Given the description of an element on the screen output the (x, y) to click on. 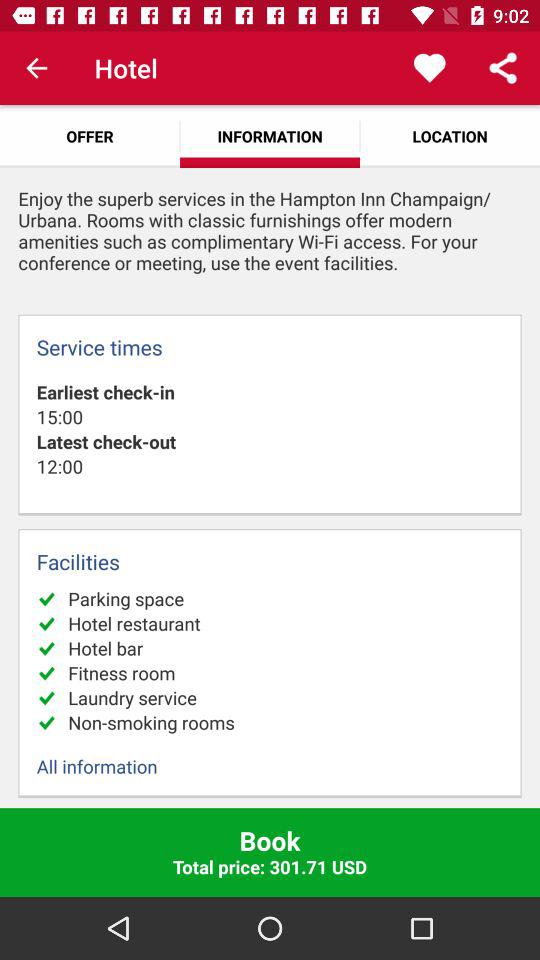
choose the item next to the information app (429, 67)
